Given the description of an element on the screen output the (x, y) to click on. 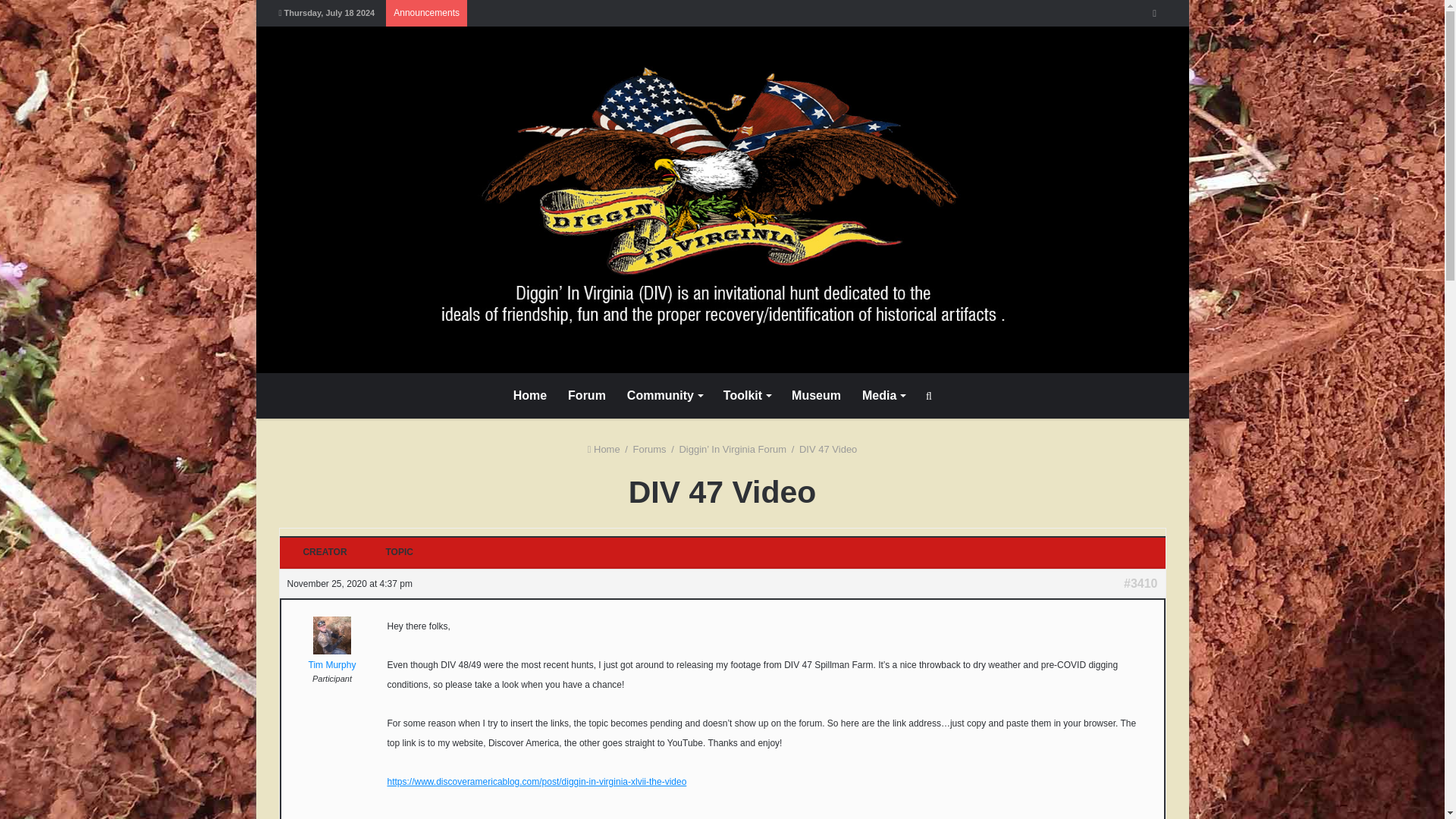
Forums (649, 449)
View Tim Murphy's profile (331, 658)
Forum (586, 395)
Home (604, 449)
Tim Murphy (331, 658)
Museum (815, 395)
Home (529, 395)
Community (664, 395)
Media (883, 395)
Toolkit (746, 395)
